Given the description of an element on the screen output the (x, y) to click on. 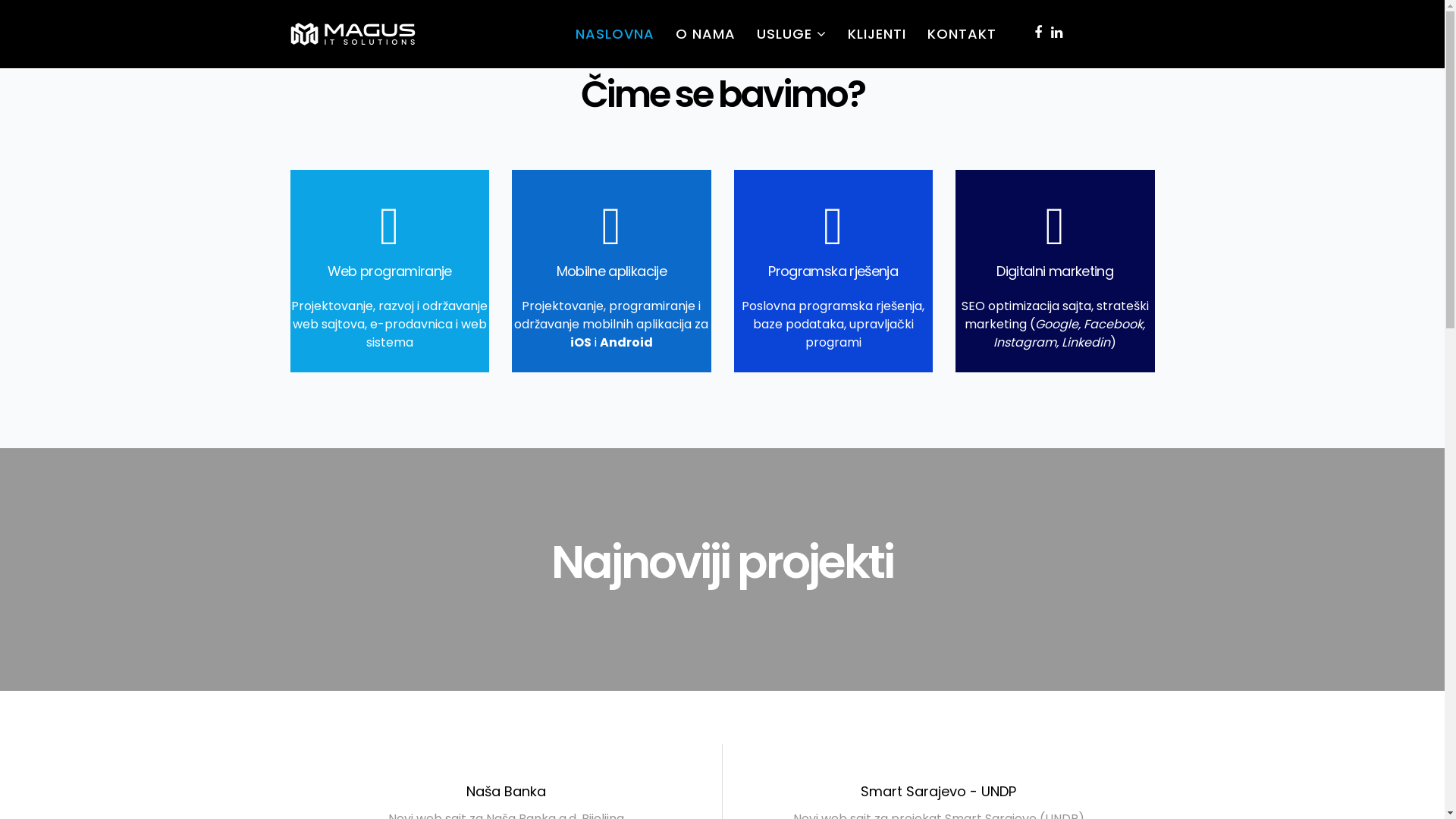
KONTAKT Element type: text (961, 34)
NASLOVNA Element type: text (614, 34)
USLUGE Element type: text (791, 34)
O NAMA Element type: text (704, 34)
KLIJENTI Element type: text (876, 34)
